Given the description of an element on the screen output the (x, y) to click on. 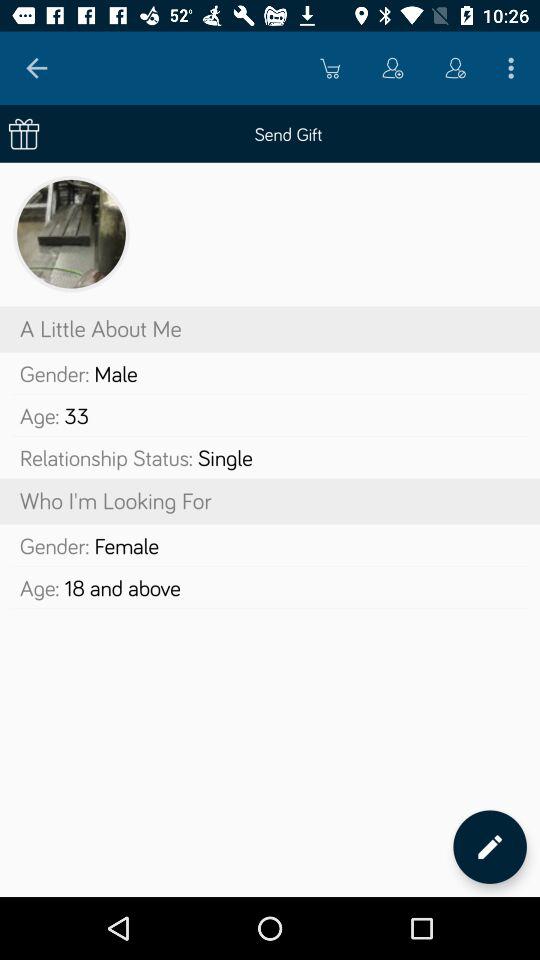
edit (489, 846)
